Given the description of an element on the screen output the (x, y) to click on. 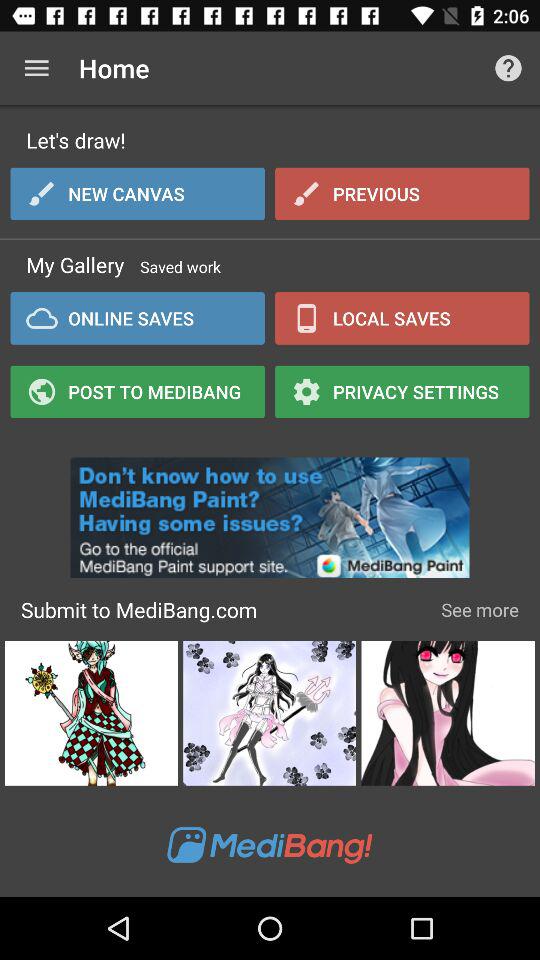
launch the icon next to the home item (508, 67)
